Given the description of an element on the screen output the (x, y) to click on. 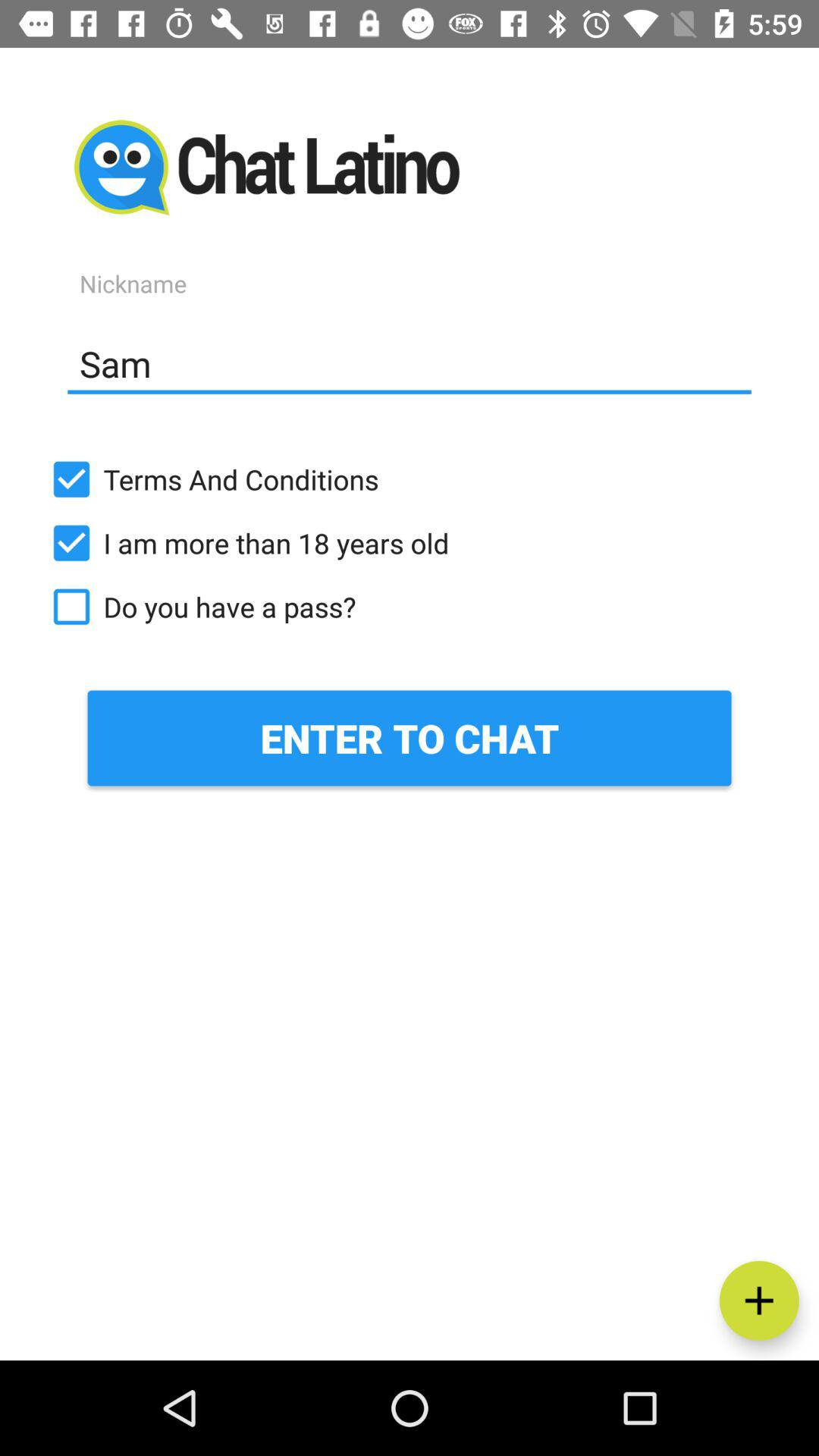
tap the sam icon (409, 363)
